Given the description of an element on the screen output the (x, y) to click on. 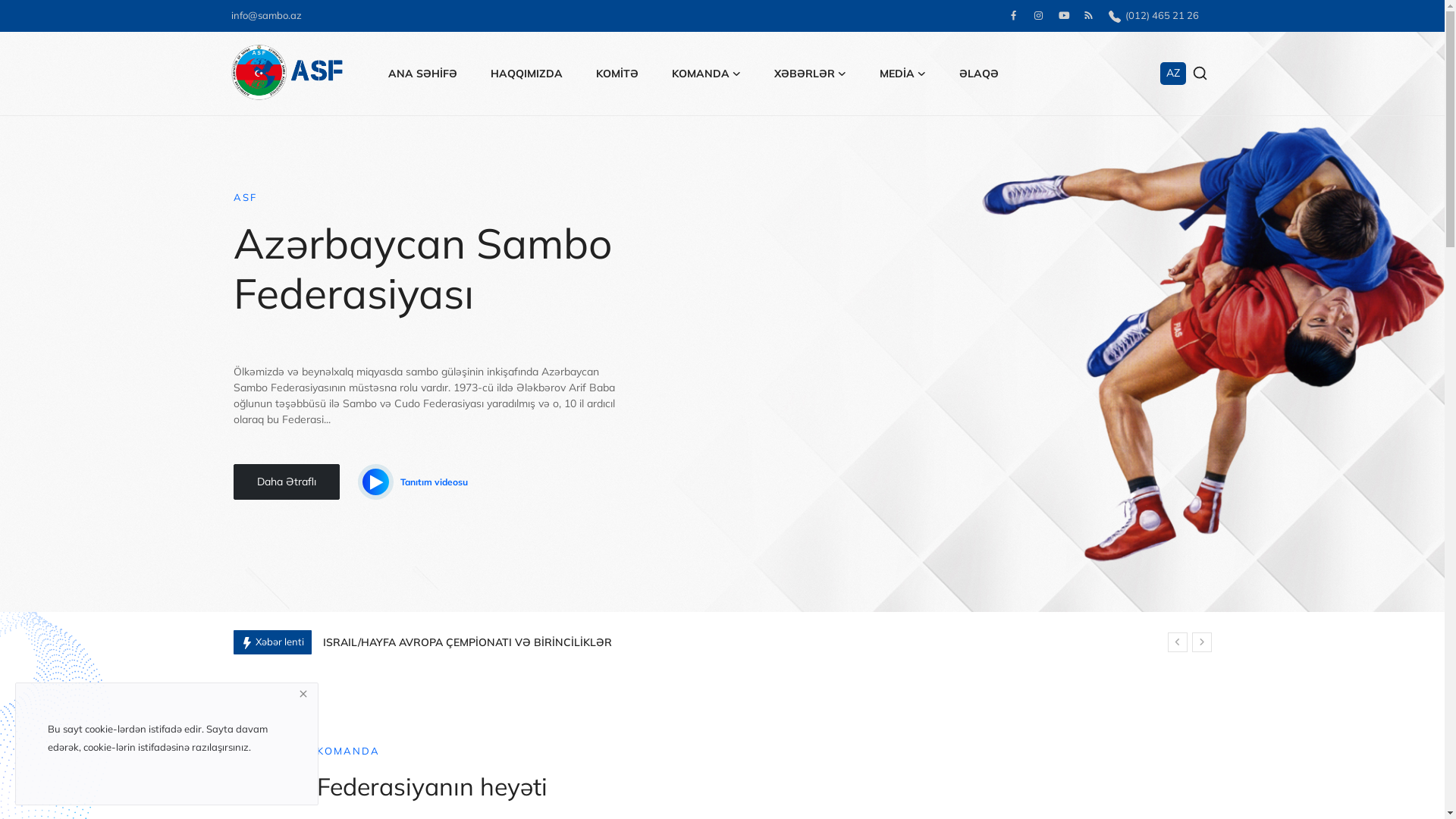
MEDIA Element type: text (902, 73)
HAQQIMIZDA Element type: text (526, 73)
info@sambo.az Element type: text (265, 15)
AZ Element type: text (1173, 73)
KOMANDA Element type: text (706, 73)
dark Element type: text (38, 340)
  (012) 465 21 26 Element type: text (1153, 15)
